Given the description of an element on the screen output the (x, y) to click on. 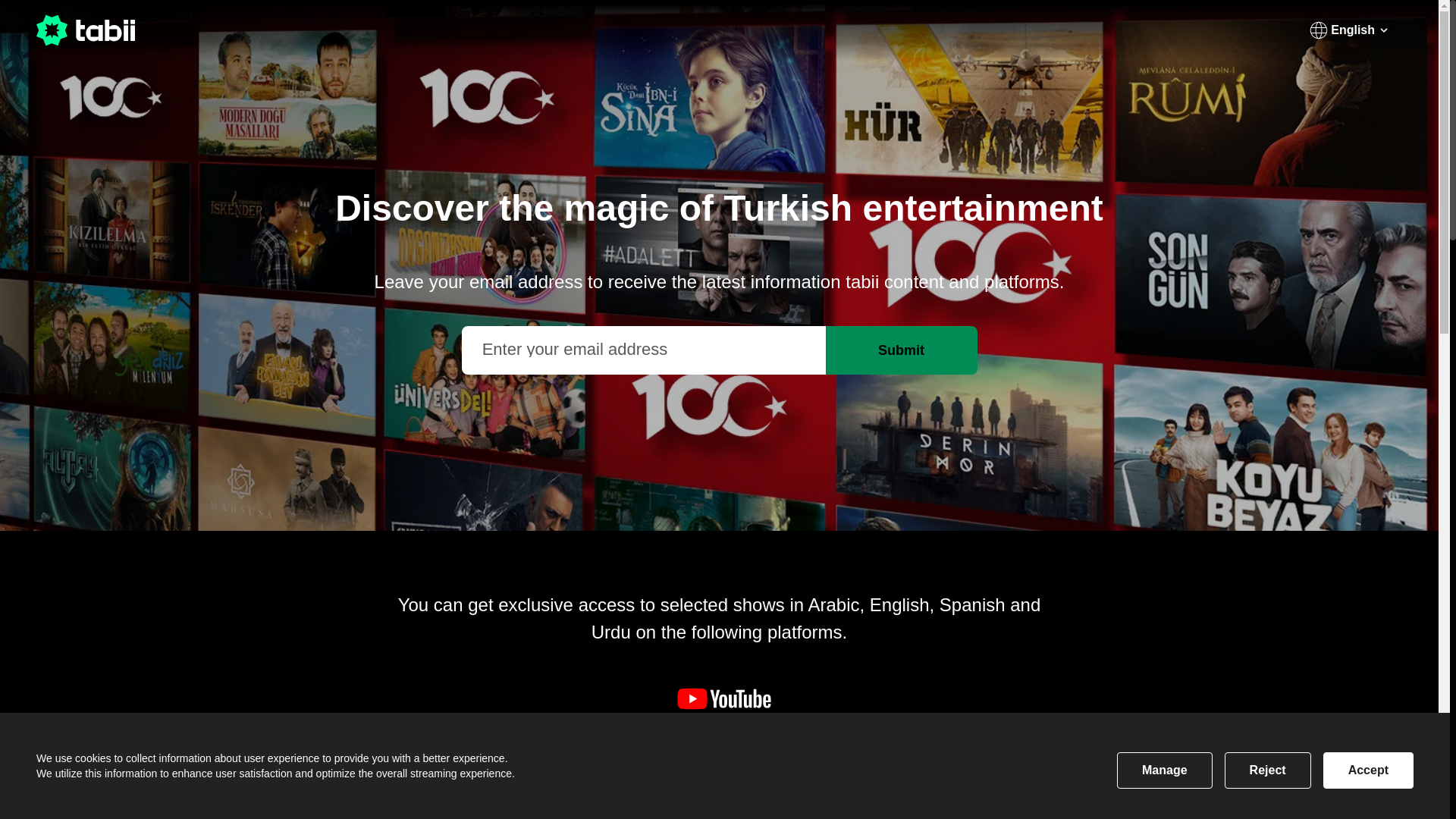
English (1349, 30)
Reject (1267, 770)
Accept (1368, 770)
Submit (900, 349)
Season 1 (724, 781)
Discover Now (1337, 30)
Season 1 (194, 792)
Manage (1164, 770)
